Given the description of an element on the screen output the (x, y) to click on. 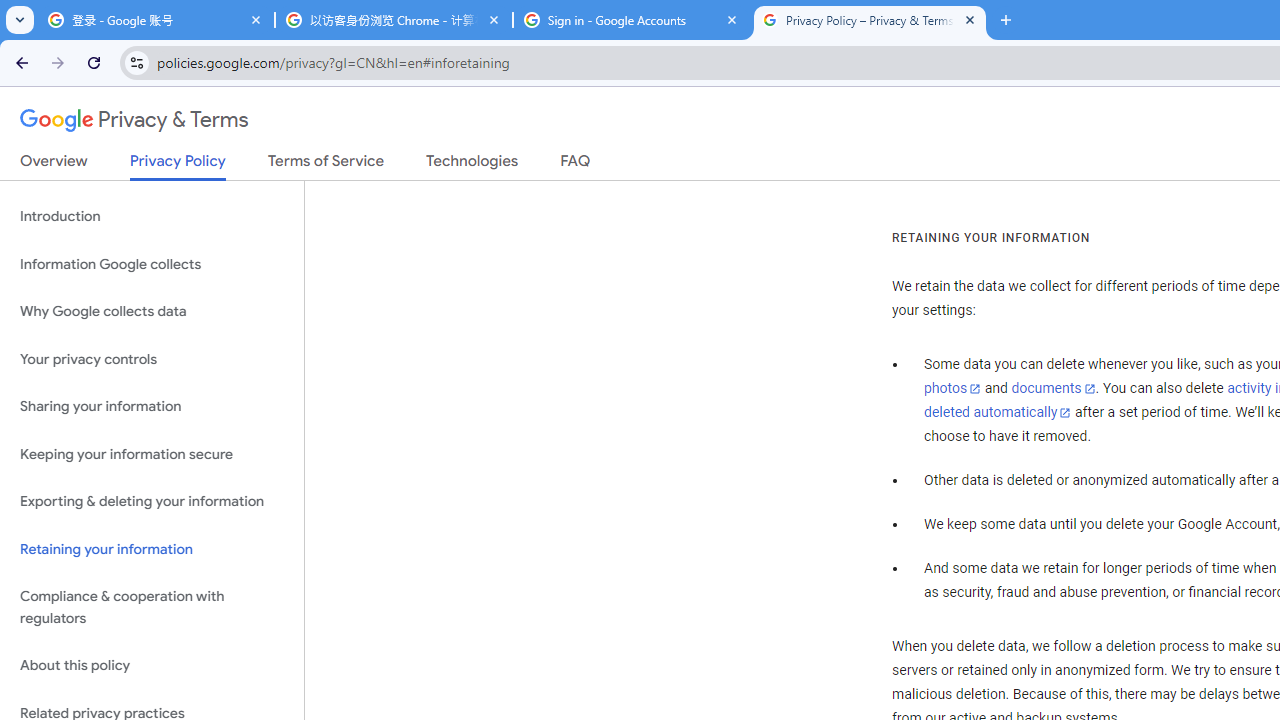
About this policy (152, 666)
Retaining your information (152, 548)
Compliance & cooperation with regulators (152, 607)
Information Google collects (152, 263)
documents (1053, 389)
